Given the description of an element on the screen output the (x, y) to click on. 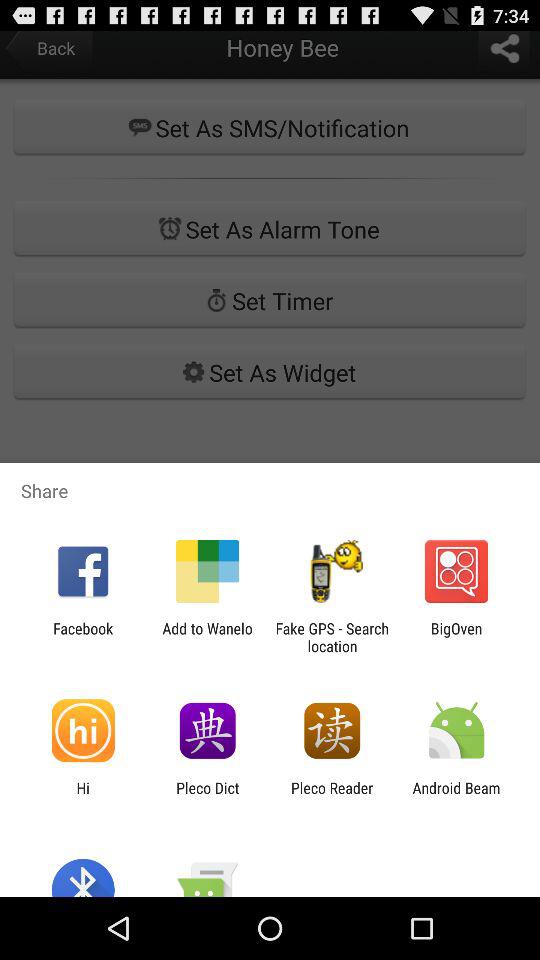
swipe to add to wanelo icon (207, 637)
